Given the description of an element on the screen output the (x, y) to click on. 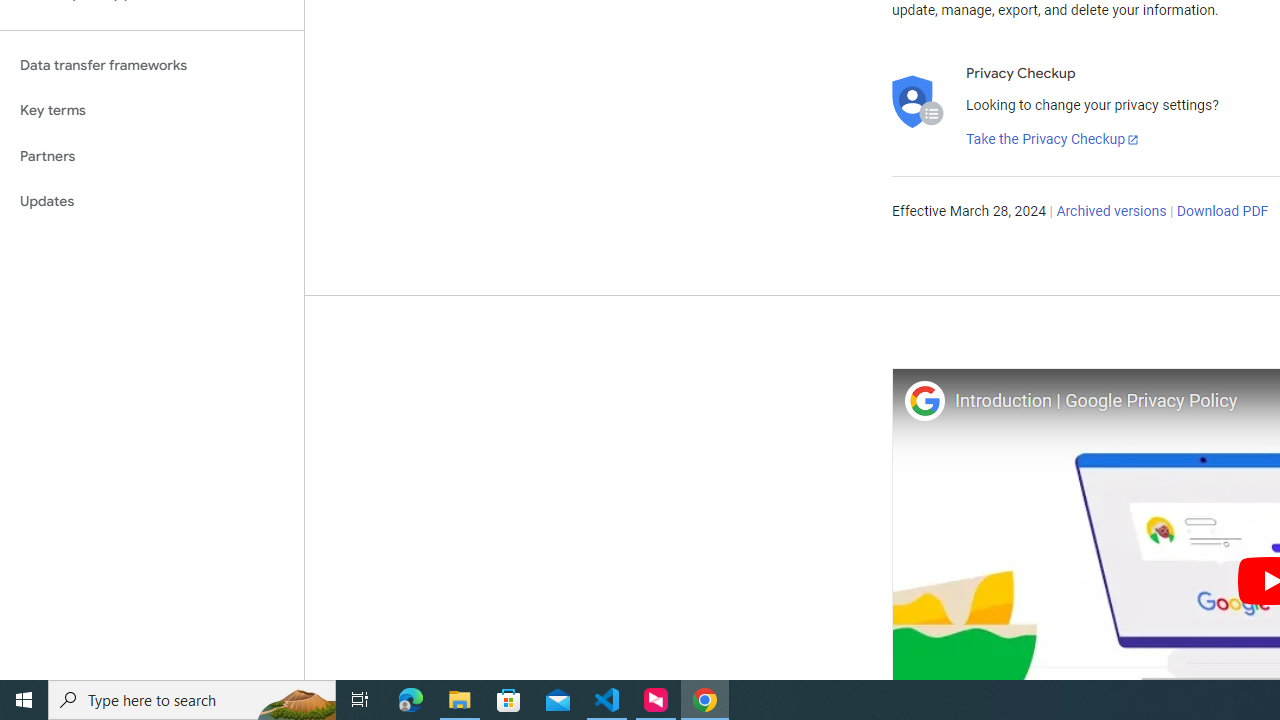
Photo image of Google (924, 400)
Take the Privacy Checkup (1053, 140)
